Given the description of an element on the screen output the (x, y) to click on. 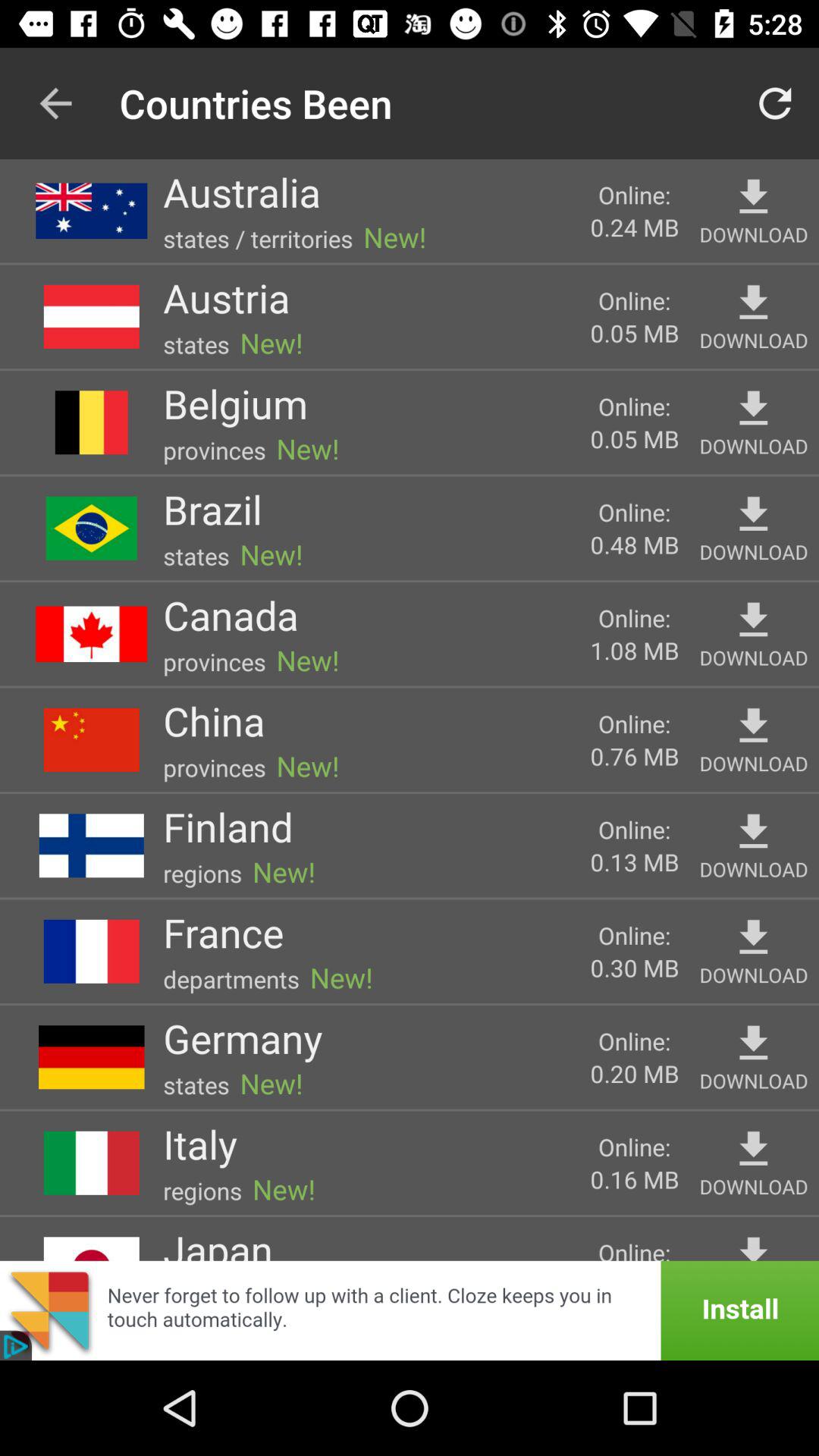
open the icon above the regions item (200, 1143)
